Given the description of an element on the screen output the (x, y) to click on. 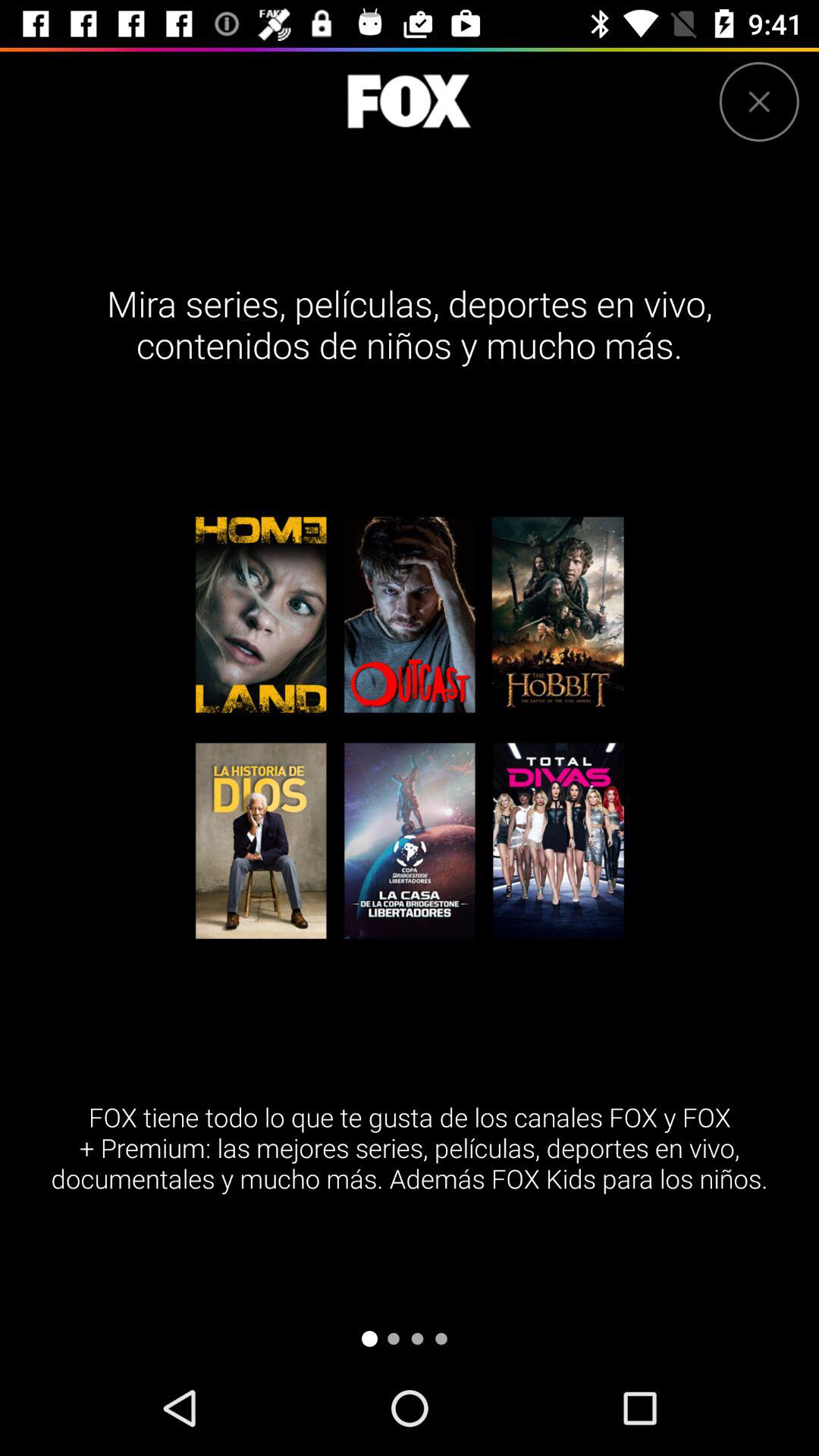
to go to fox homepage (408, 101)
